Given the description of an element on the screen output the (x, y) to click on. 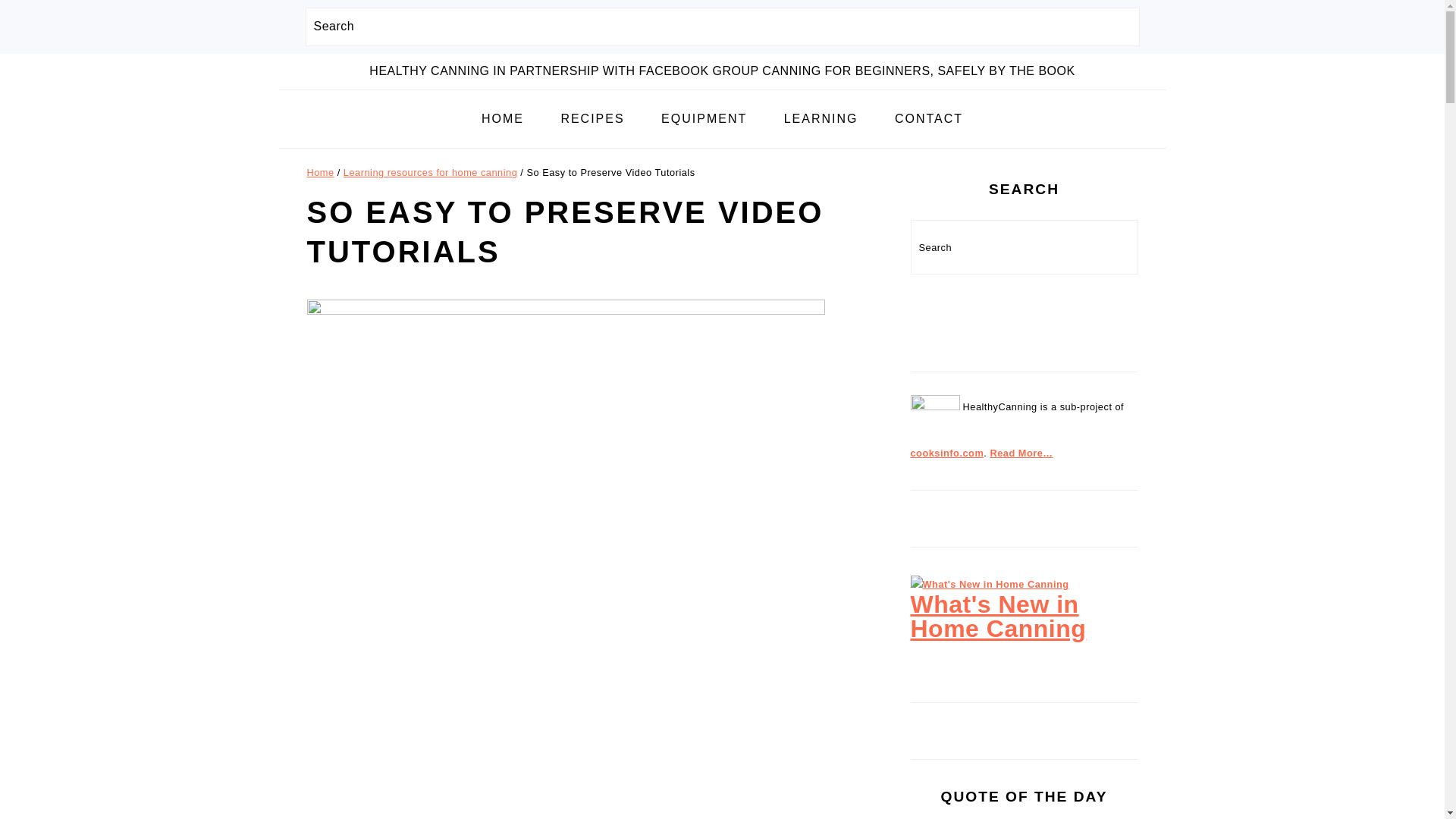
RECIPES (592, 119)
HOME (502, 119)
CONTACT (928, 119)
LEARNING (821, 119)
What's New in Home Canning (989, 583)
EQUIPMENT (703, 119)
